Given the description of an element on the screen output the (x, y) to click on. 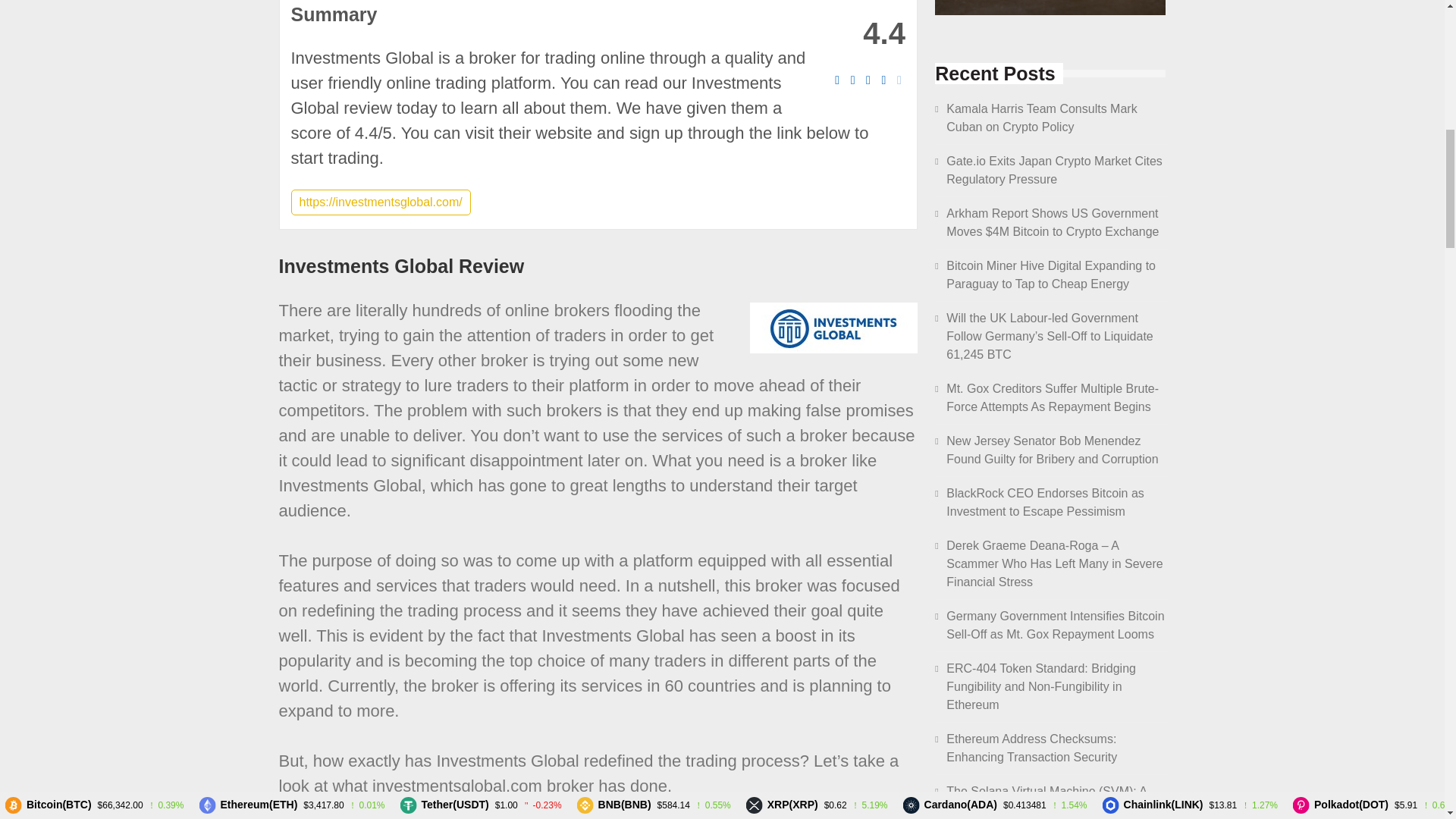
Trading Robot Review (1050, 7)
Investments Global logo - CryptocyNews.com (833, 327)
Kamala Harris Team Consults Mark Cuban on Crypto Policy (1041, 117)
Gate.io Exits Japan Crypto Market Cites Regulatory Pressure (1053, 169)
